Given the description of an element on the screen output the (x, y) to click on. 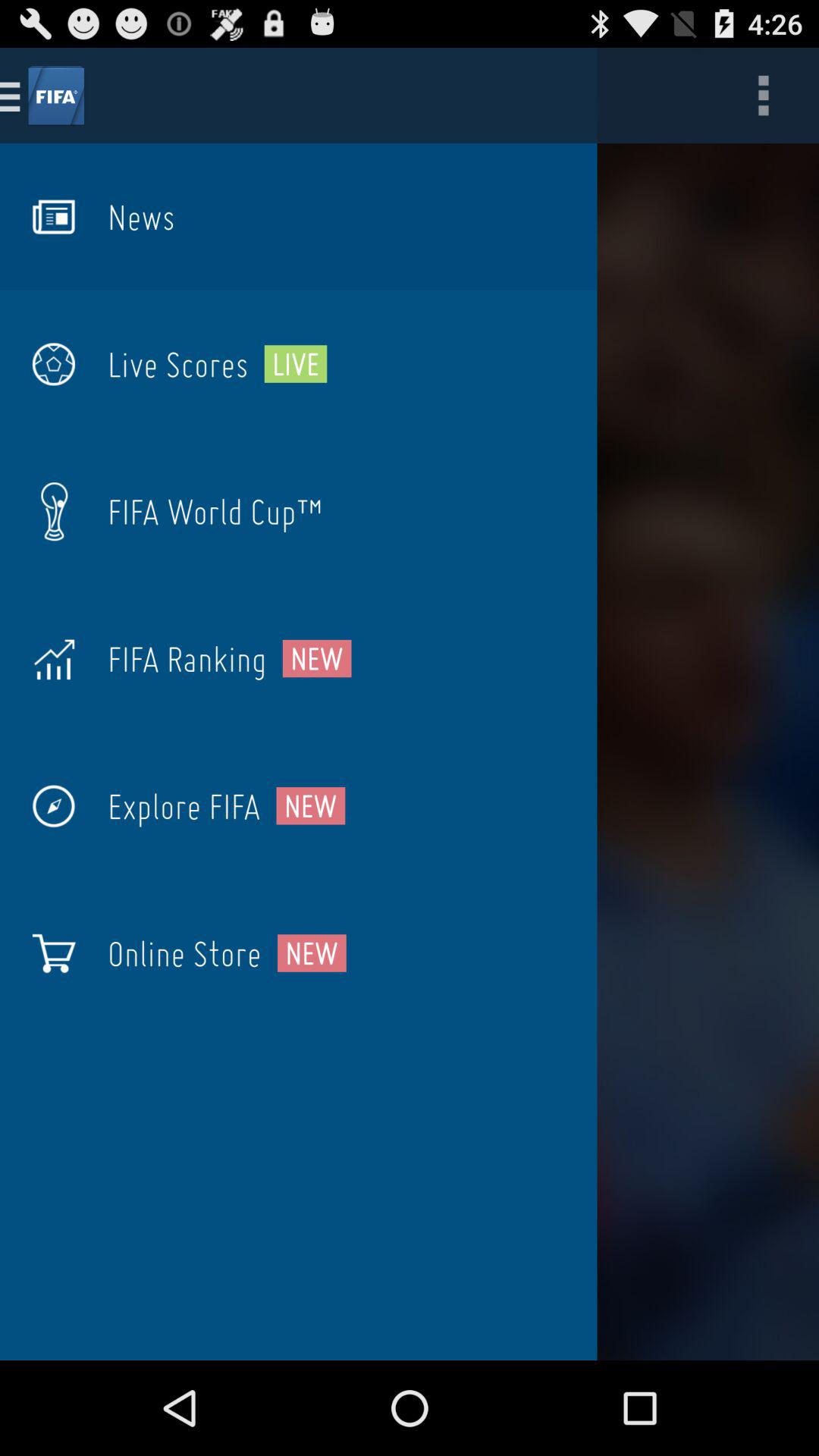
choose the item next to the new (183, 805)
